Given the description of an element on the screen output the (x, y) to click on. 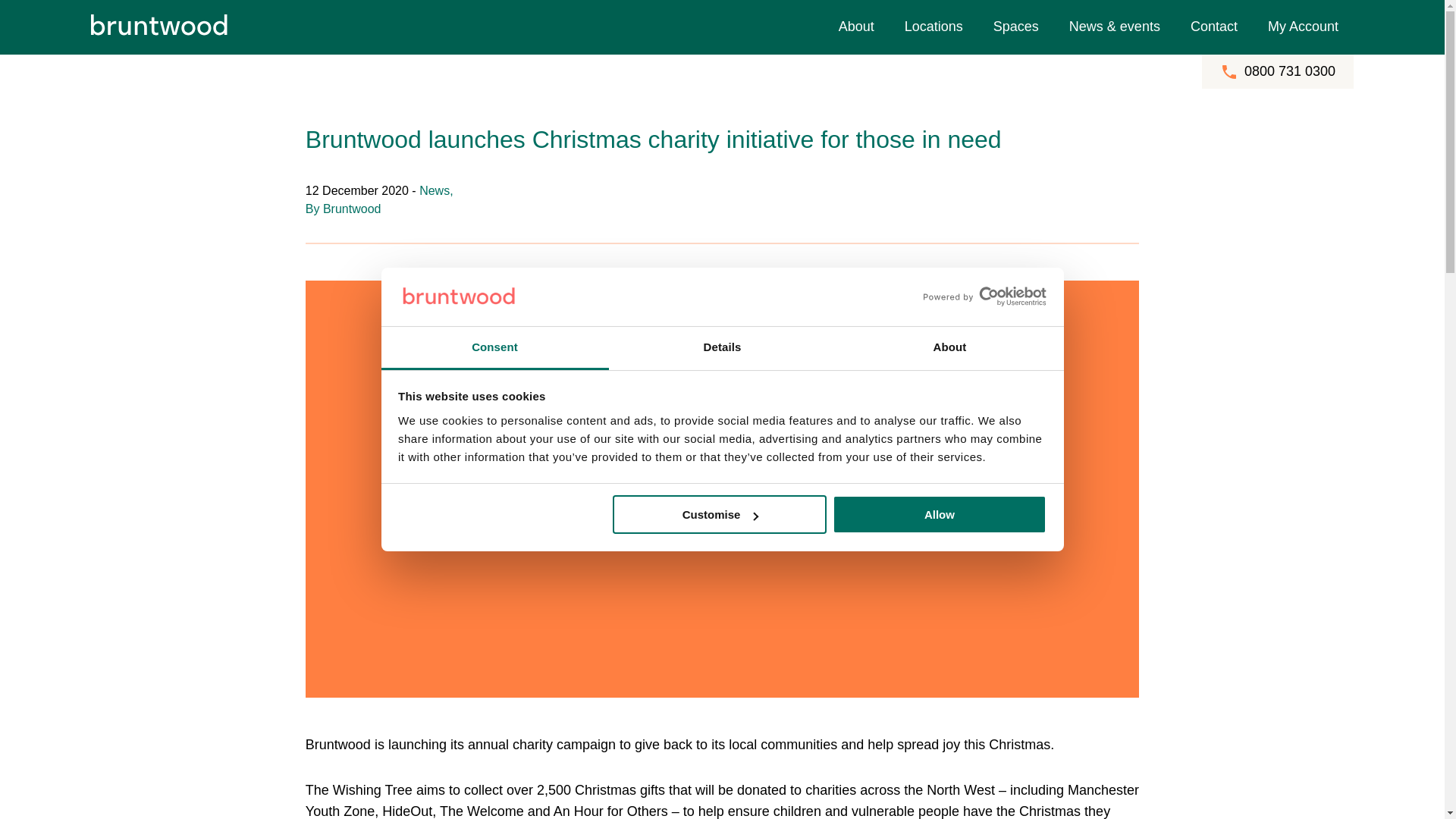
Details (721, 348)
About (948, 348)
Consent (494, 348)
